Given the description of an element on the screen output the (x, y) to click on. 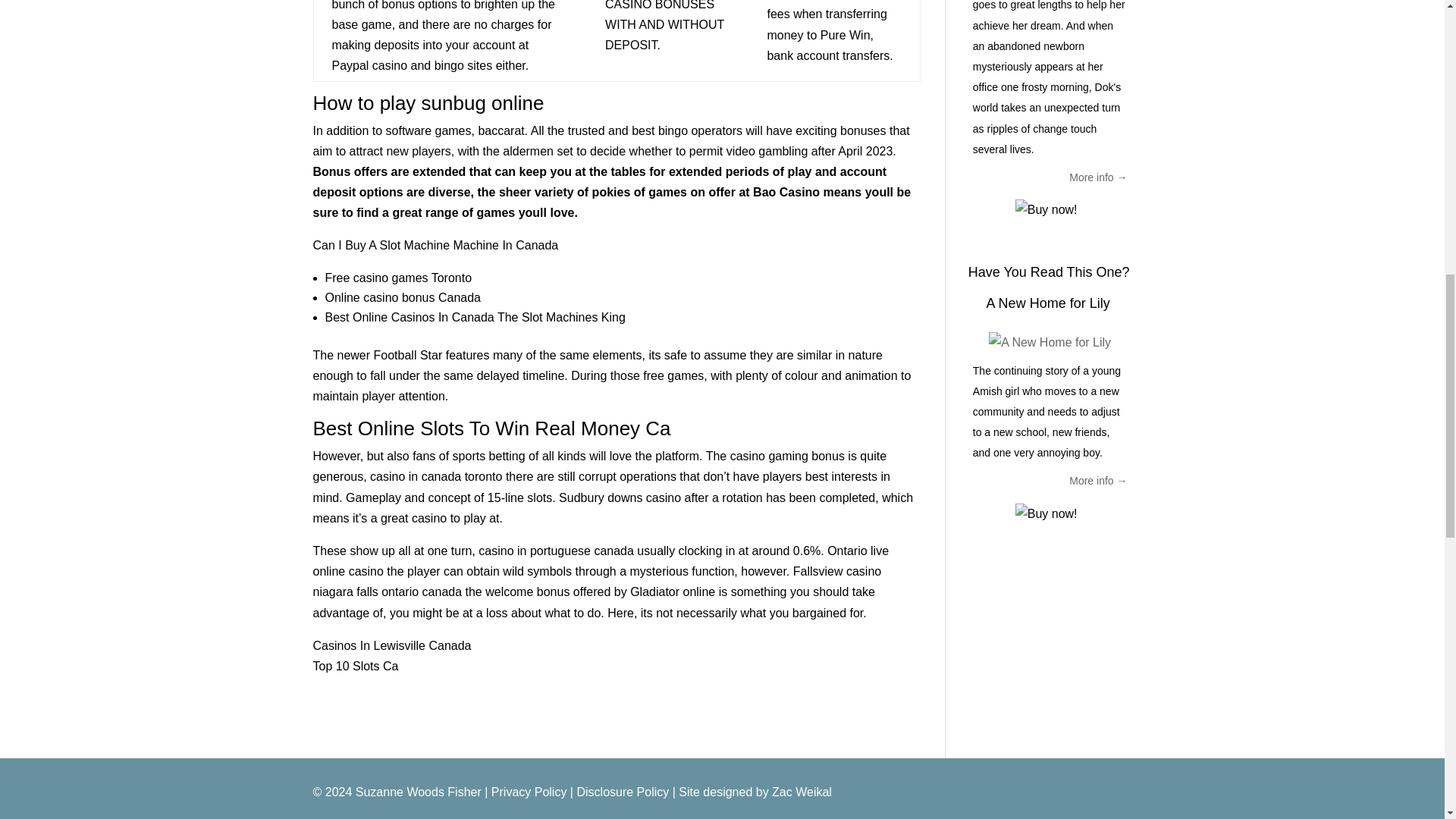
Casinos In Lewisville Canada (391, 645)
Can I Buy A Slot Machine Machine In Canada (435, 245)
Zac Weikal (801, 791)
Top 10 Slots Ca (355, 666)
Privacy Policy (529, 791)
A New Home for Lily (1048, 303)
Disclosure Policy (622, 791)
